Given the description of an element on the screen output the (x, y) to click on. 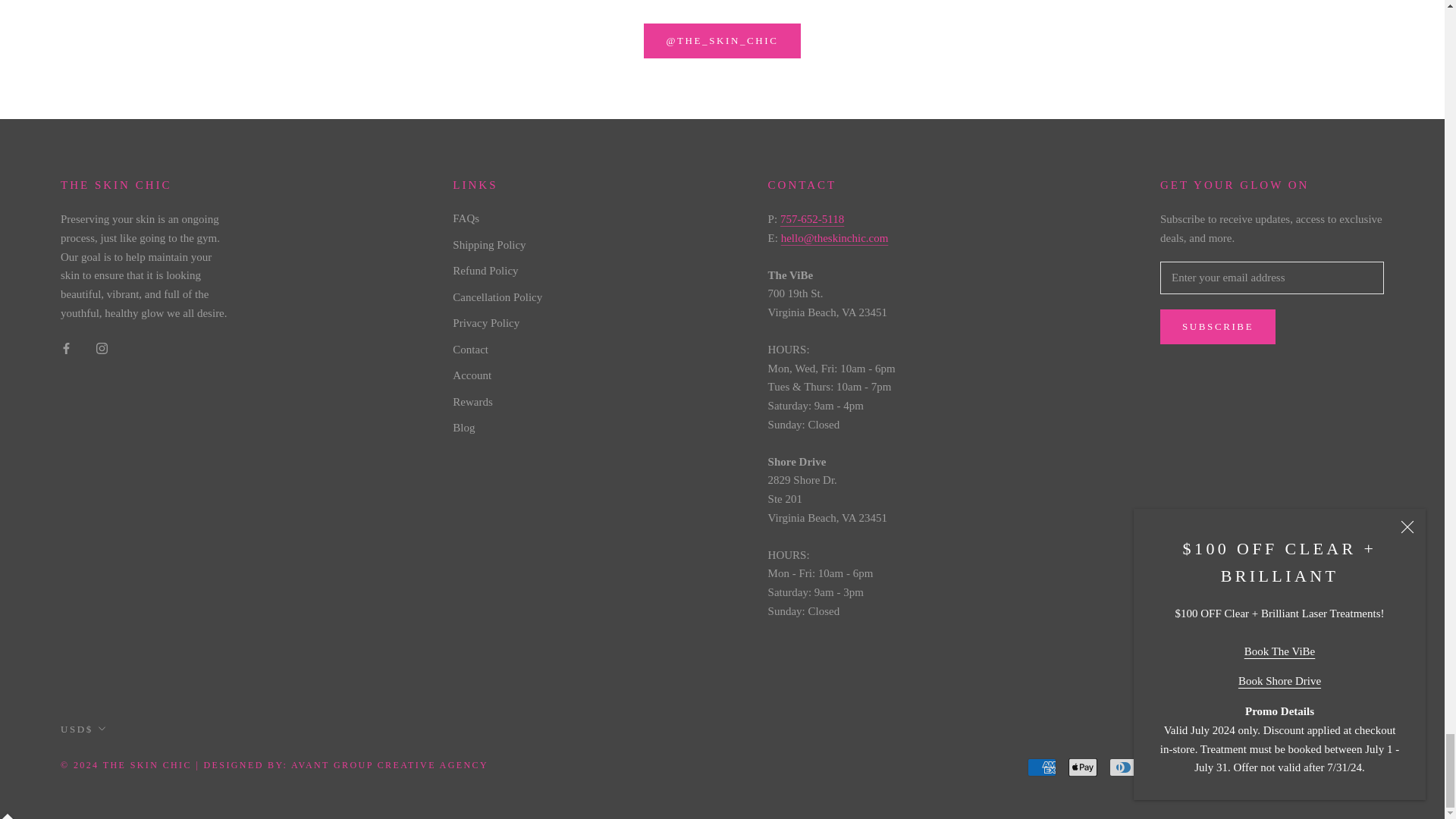
Google Pay (1245, 767)
tel:757-652-5118 (812, 218)
Apple Pay (1082, 767)
Mastercard (1286, 767)
Diners Club (1123, 767)
American Express (1042, 767)
Meta Pay (1205, 767)
Discover (1164, 767)
